Given the description of an element on the screen output the (x, y) to click on. 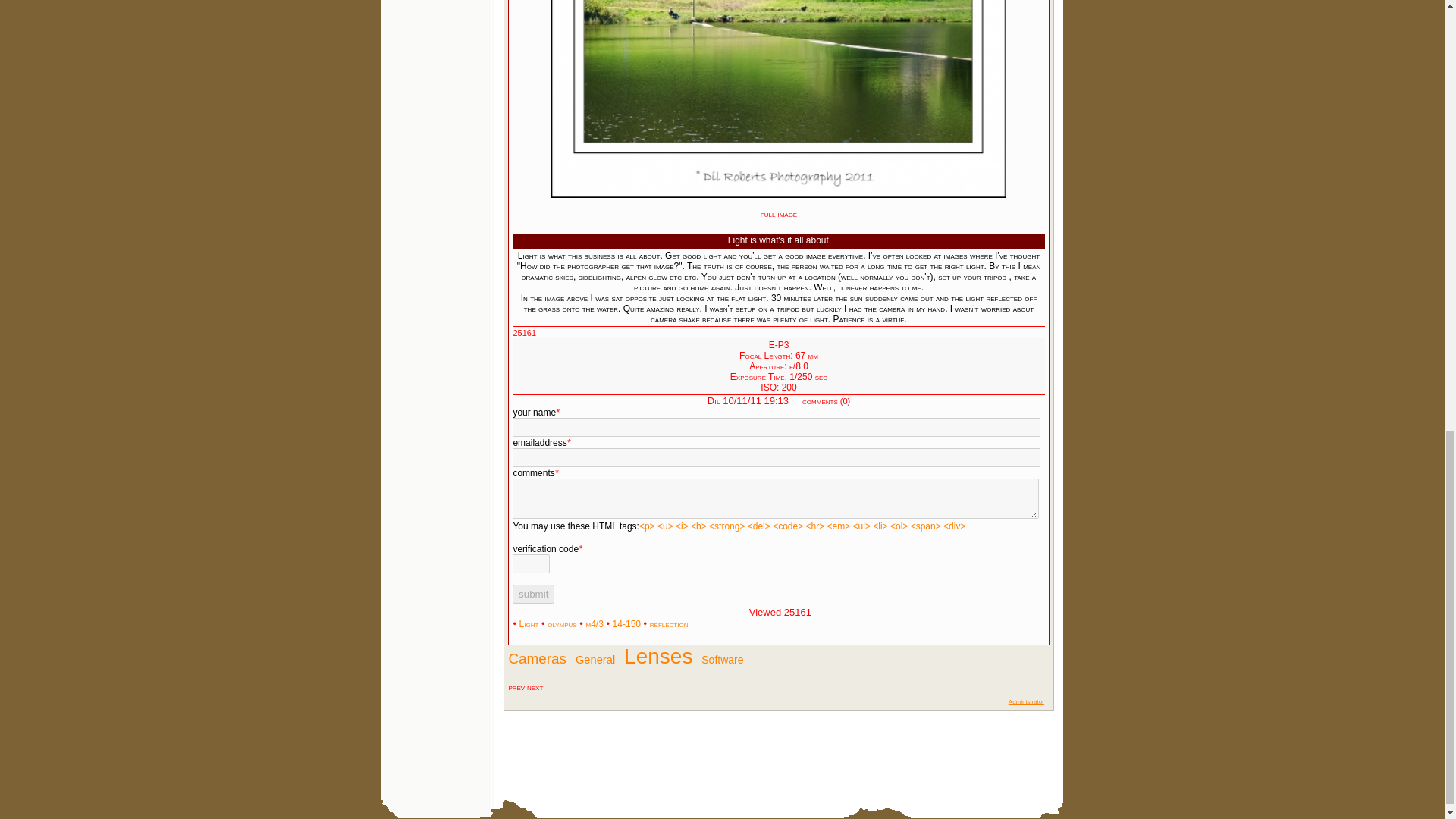
 submit  (533, 593)
